Given the description of an element on the screen output the (x, y) to click on. 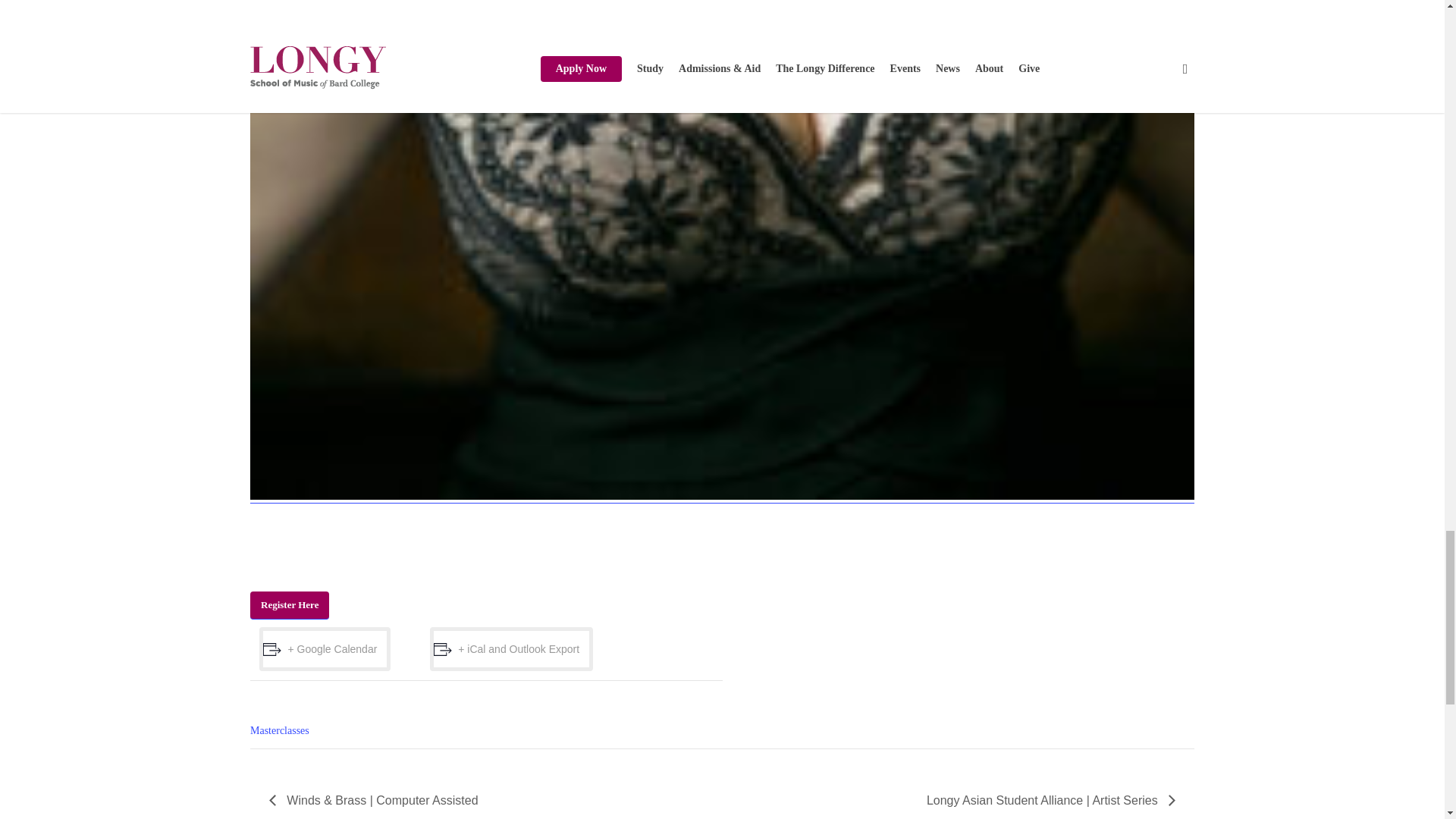
Add to Google Calendar (324, 648)
Masterclasses (279, 730)
Register Here (289, 605)
